Given the description of an element on the screen output the (x, y) to click on. 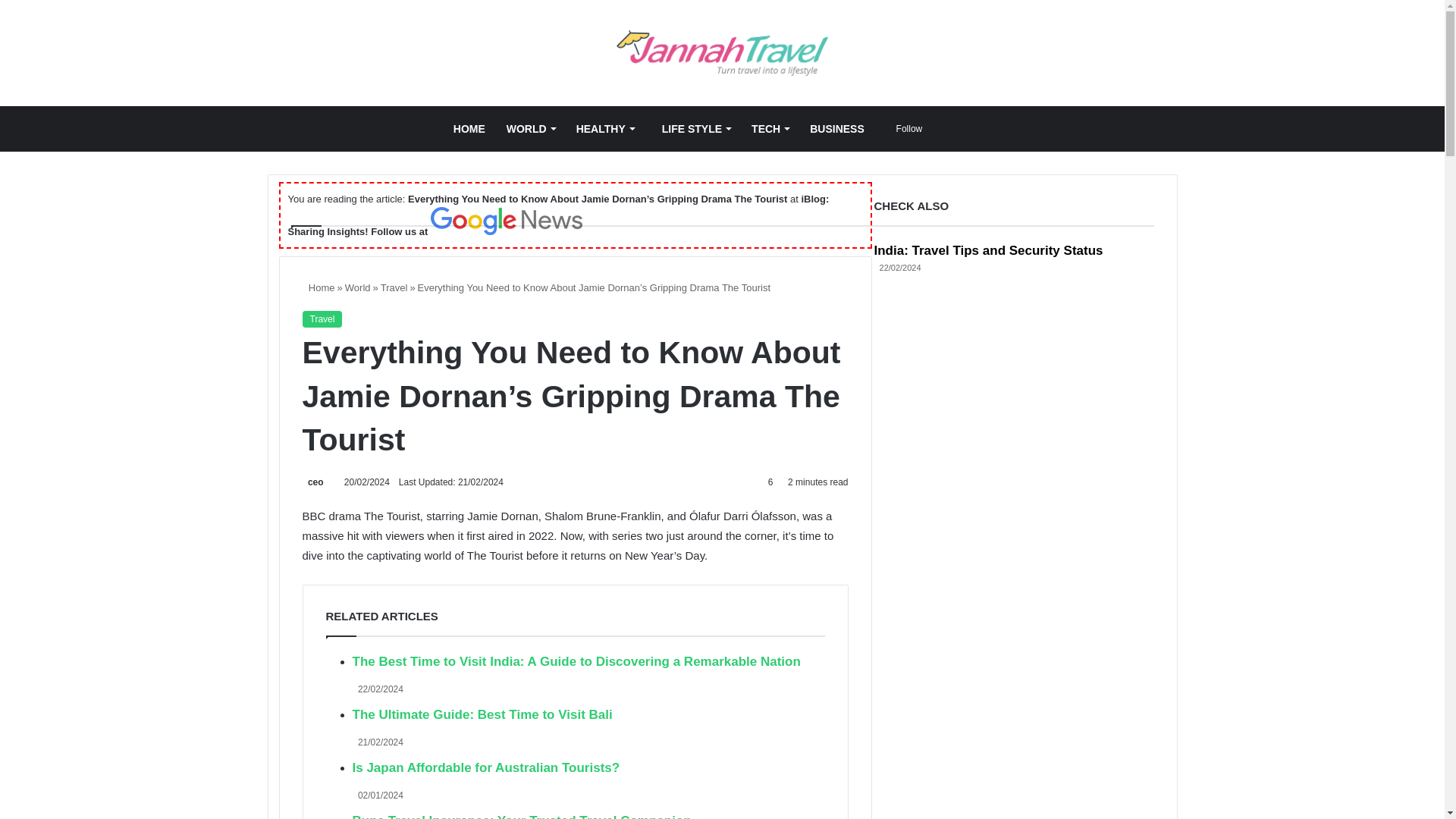
ceo (312, 481)
TECH (770, 128)
iBlog: Sharing Insights! (558, 215)
Bupa Travel Insurance: Your Trusted Travel Companion (521, 816)
Travel (321, 319)
HOME (469, 128)
The Ultimate Guide: Best Time to Visit Bali (481, 714)
WORLD (531, 128)
Travel (393, 287)
Follow (904, 128)
iBlog (721, 53)
LIFE STYLE (693, 128)
Home (317, 287)
Is Japan Affordable for Australian Tourists? (486, 767)
